Given the description of an element on the screen output the (x, y) to click on. 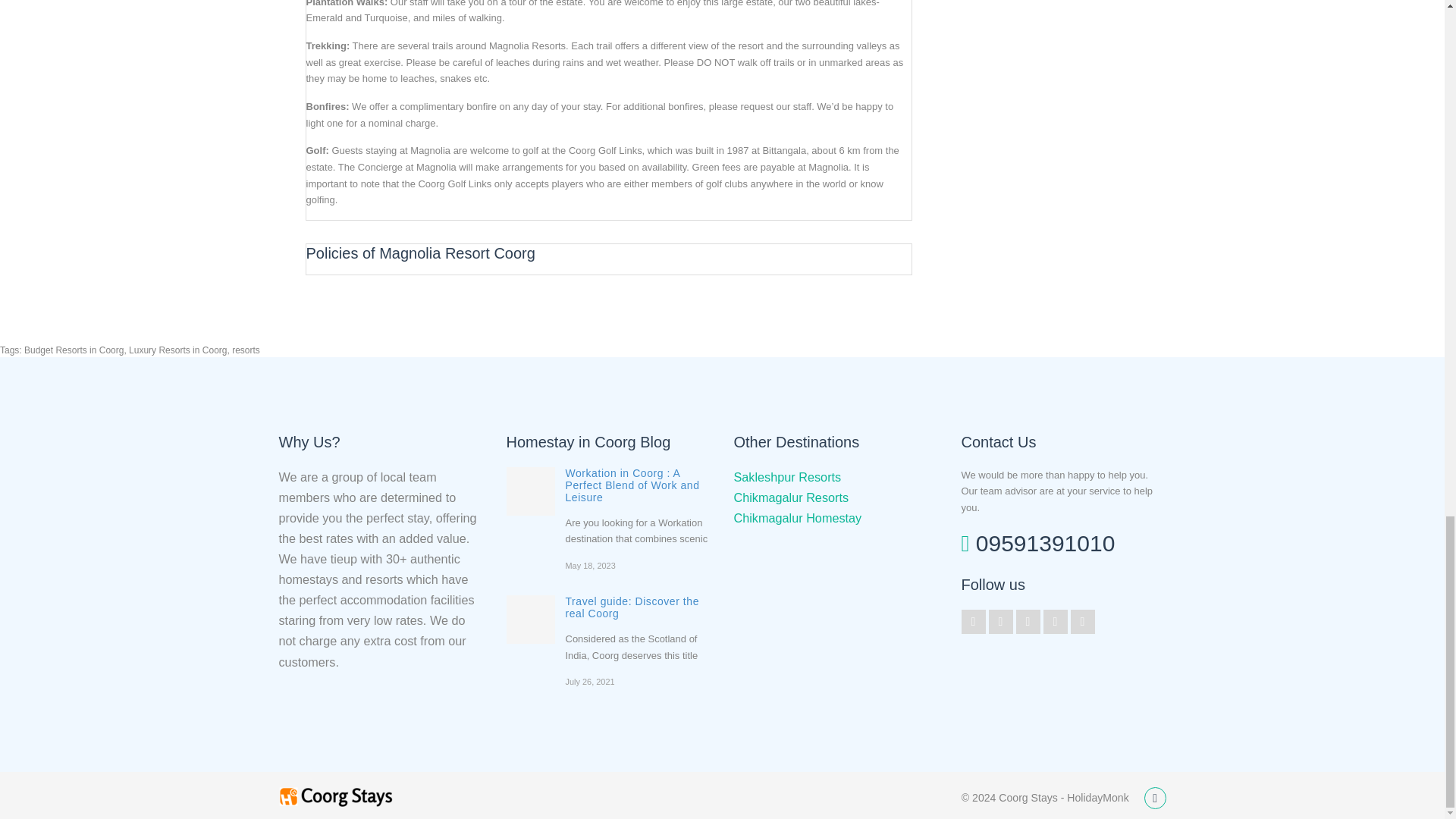
googleplus (1000, 621)
twitter (972, 621)
Workation in Coorg : A Perfect Blend of Work and Leisure (633, 484)
Workation in Coorg : A Perfect Blend of Work and Leisure (530, 490)
facebook (1028, 621)
youtube (1055, 621)
Travel guide: Discover the real Coorg (633, 607)
Travel guide: Discover the real Coorg (530, 619)
